Given the description of an element on the screen output the (x, y) to click on. 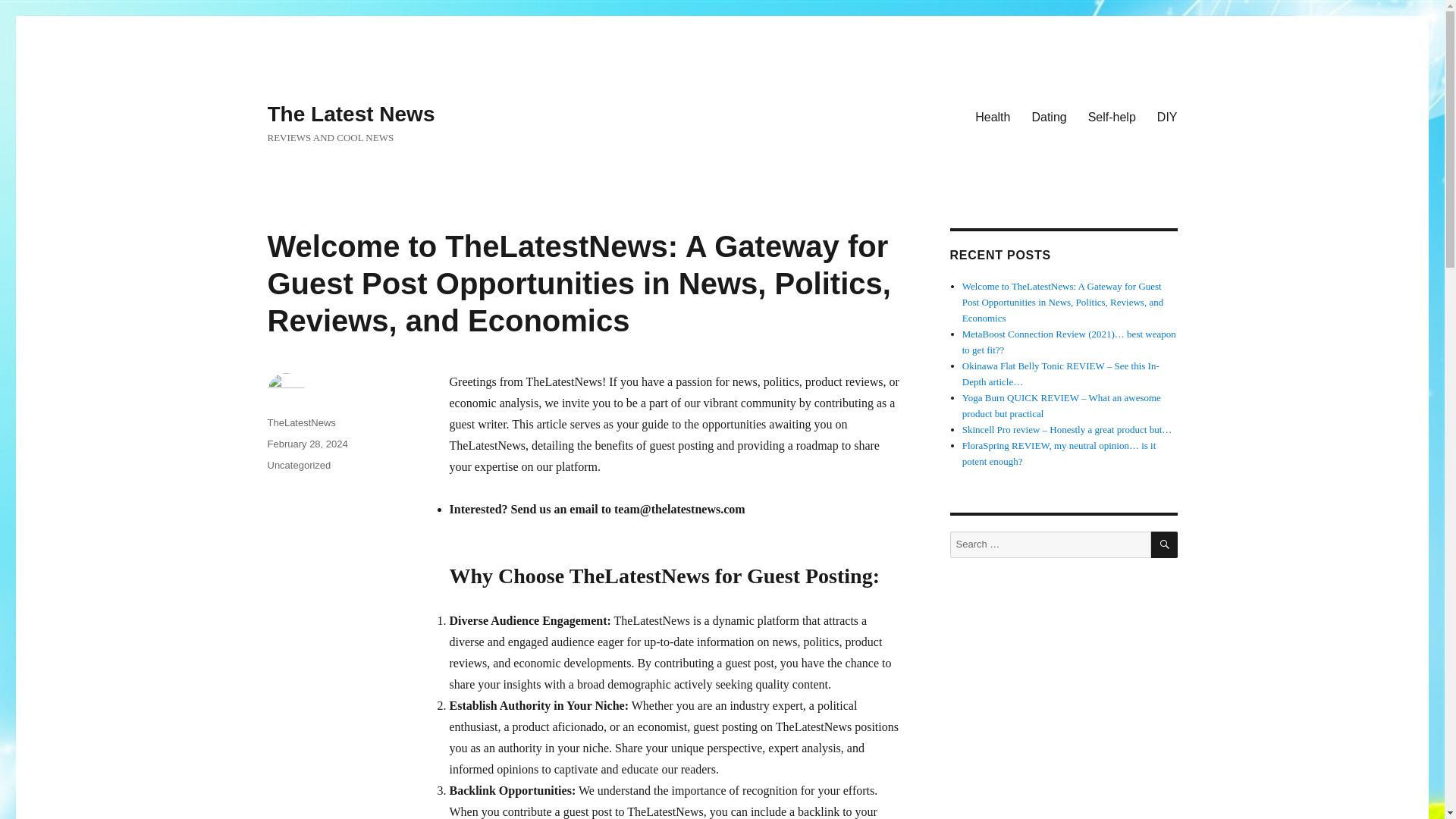
SEARCH (1164, 544)
TheLatestNews (300, 422)
DIY (1167, 116)
The Latest News (349, 114)
February 28, 2024 (306, 443)
Dating (1048, 116)
Self-help (1112, 116)
Health (991, 116)
Uncategorized (298, 464)
